Given the description of an element on the screen output the (x, y) to click on. 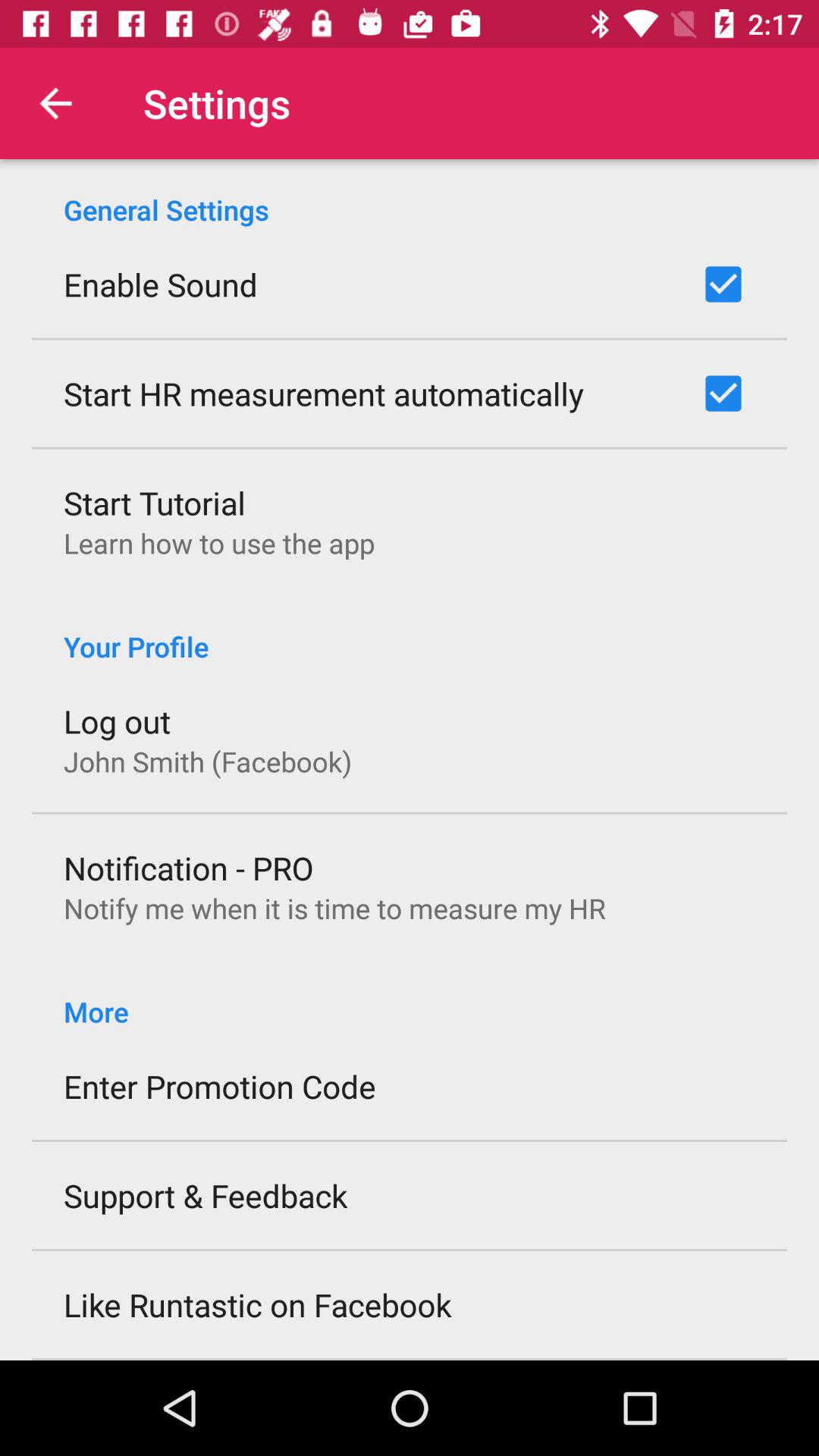
turn on start tutorial item (154, 502)
